Given the description of an element on the screen output the (x, y) to click on. 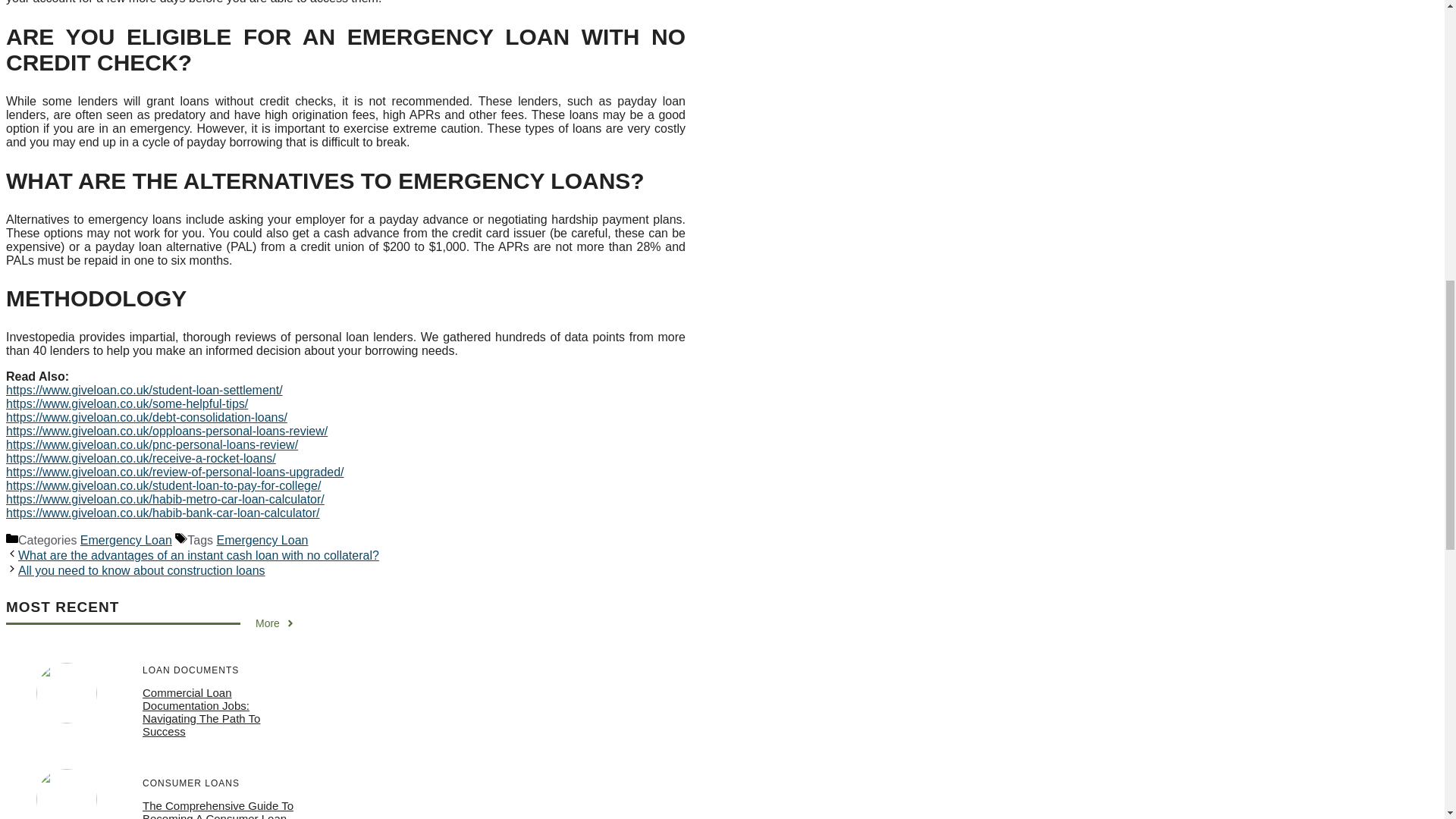
Emergency Loan (125, 540)
Emergency Loan (262, 540)
All you need to know about construction loans (140, 570)
More (275, 623)
